Given the description of an element on the screen output the (x, y) to click on. 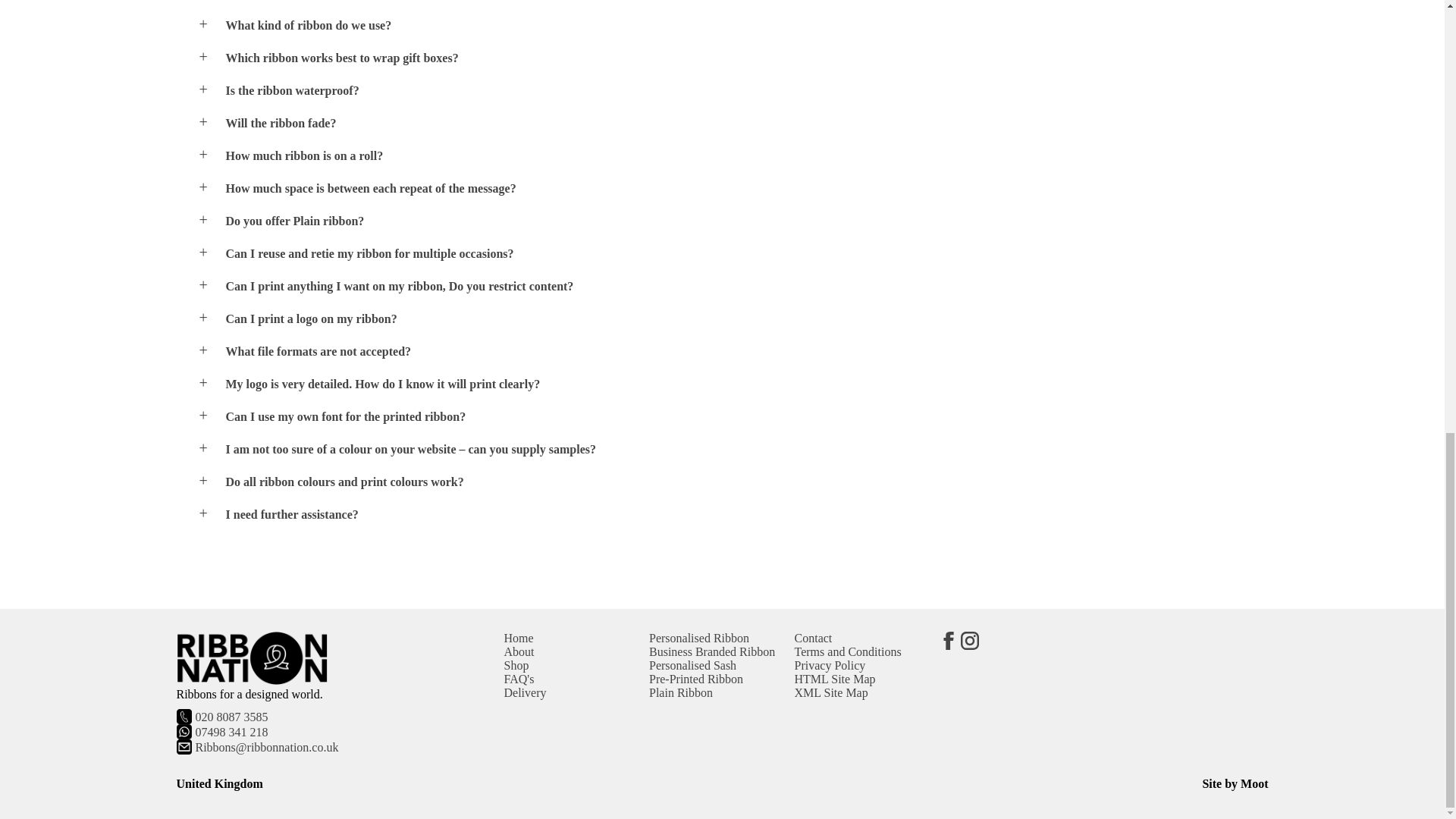
How much ribbon is on a roll? (735, 155)
Is the ribbon waterproof? (735, 90)
What kind of ribbon do we use? (735, 25)
Will the ribbon fade? (735, 123)
Which ribbon works best to wrap gift boxes? (735, 58)
